Given the description of an element on the screen output the (x, y) to click on. 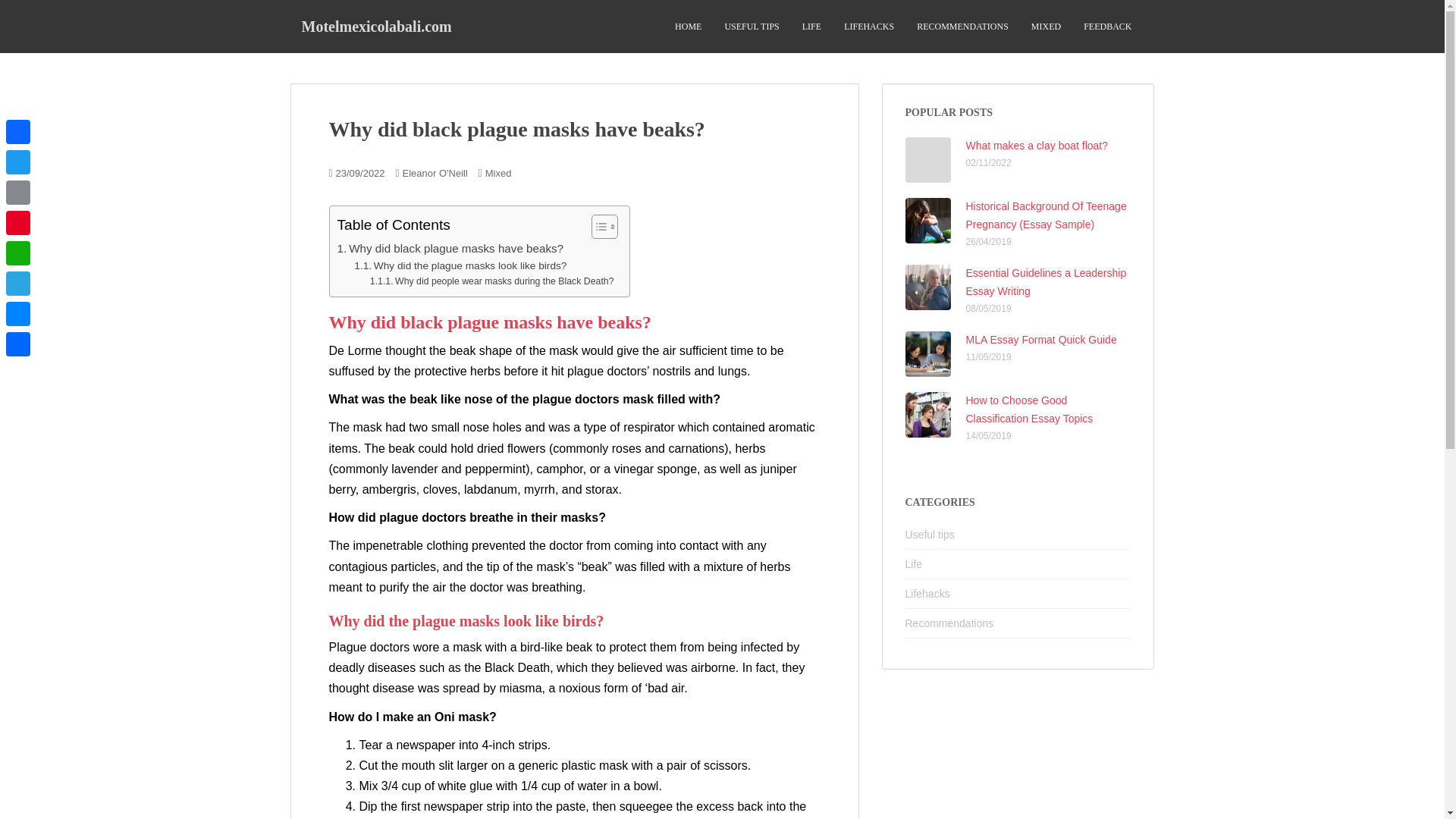
Useful tips (930, 534)
MLA Essay Format Quick Guide (1041, 339)
Why did people wear masks during the Black Death? (491, 281)
Motelmexicolabali.com (376, 26)
Eleanor O'Neill (434, 173)
Why did black plague masks have beaks? (449, 248)
Why did the plague masks look like birds? (459, 265)
WhatsApp (17, 253)
Motelmexicolabali.com (376, 26)
Twitter (17, 162)
What makes a clay boat float? (1037, 145)
Pinterest (17, 223)
Why did people wear masks during the Black Death? (491, 281)
Telegram (17, 283)
Facebook (17, 132)
